Given the description of an element on the screen output the (x, y) to click on. 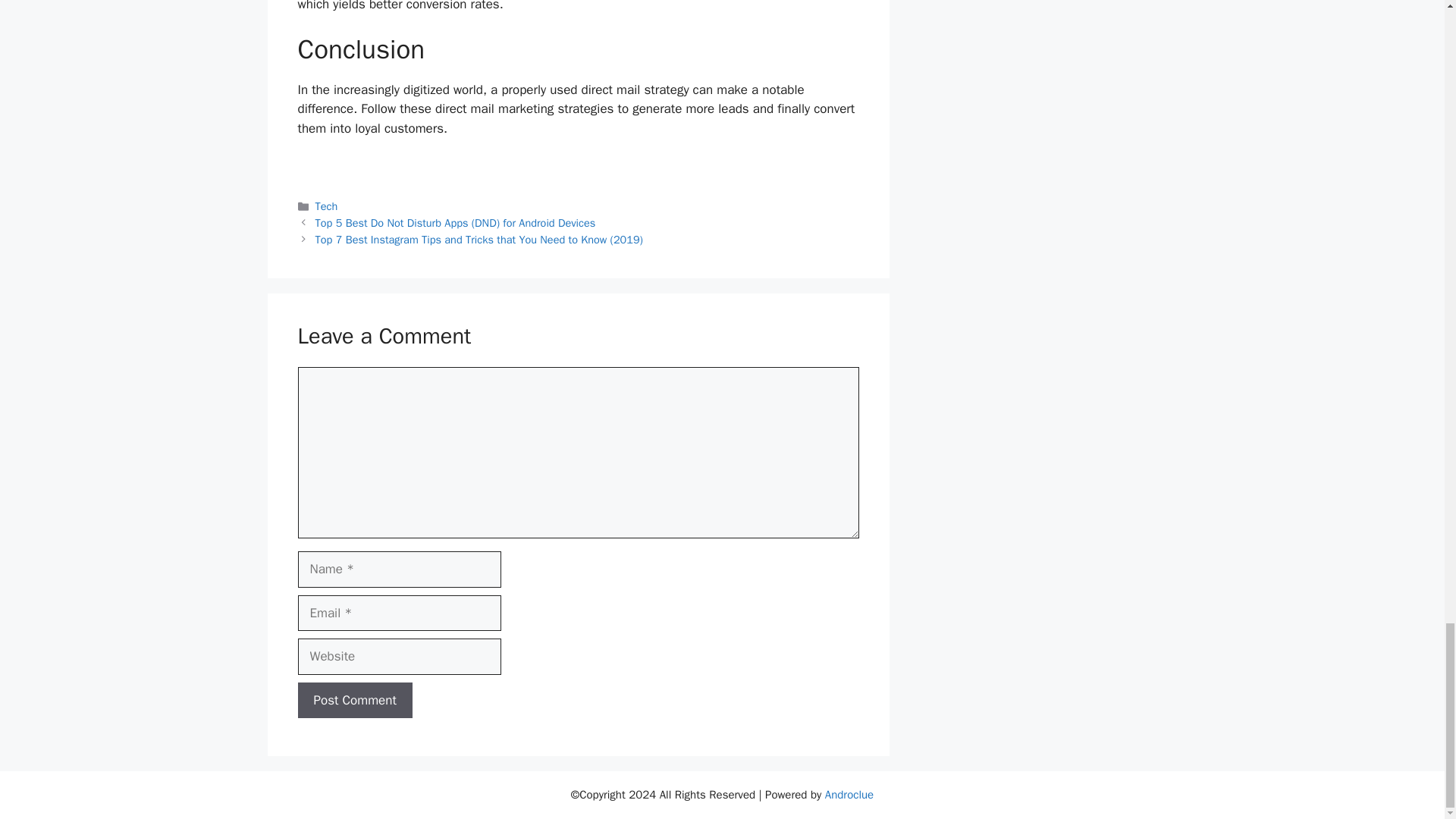
Tech (326, 205)
Post Comment (354, 700)
Post Comment (354, 700)
